Given the description of an element on the screen output the (x, y) to click on. 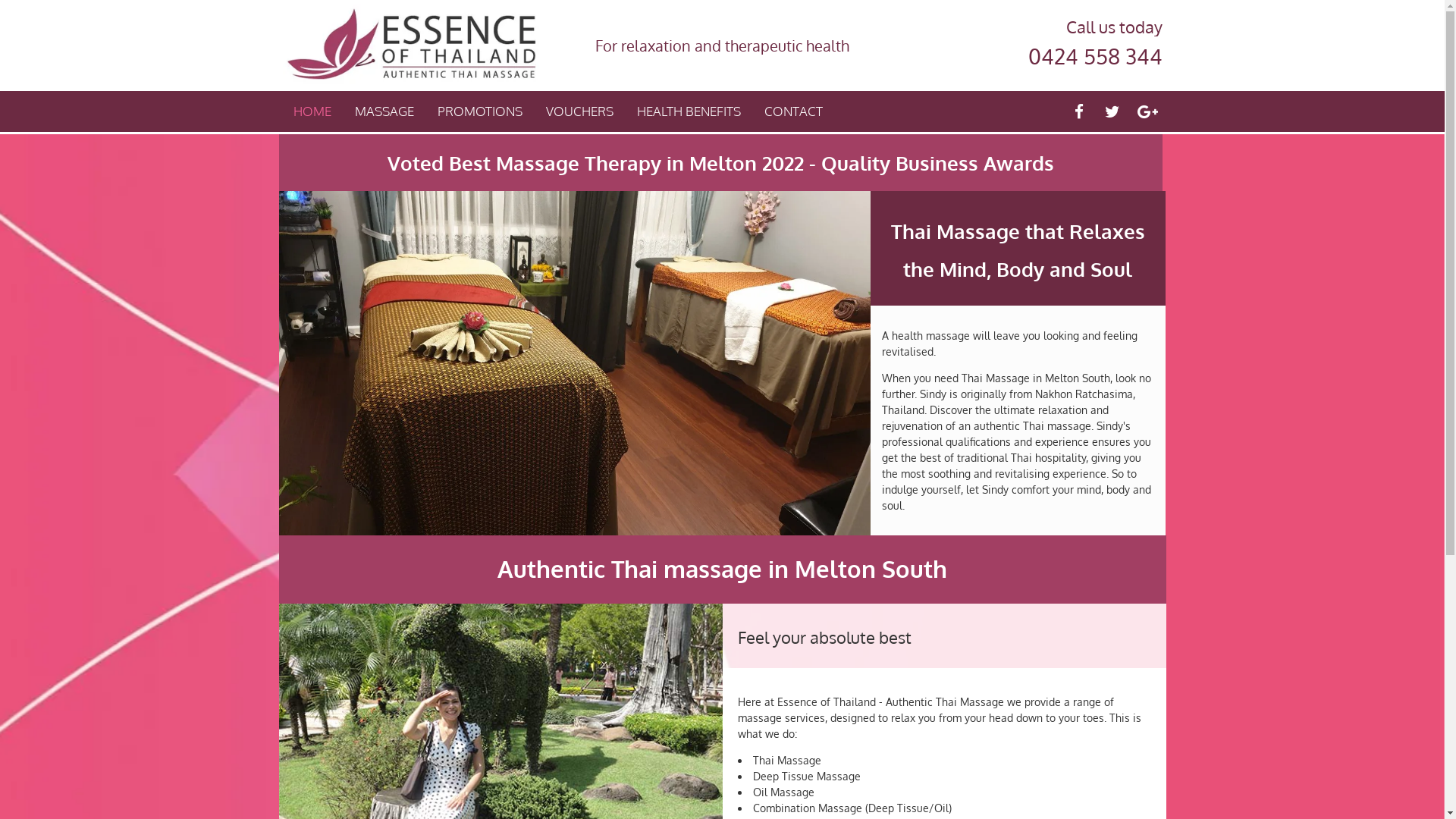
HEALTH BENEFITS Element type: text (688, 110)
HOME Element type: text (311, 110)
essence of thailand authentic thai massage logo Element type: hover (410, 45)
VOUCHERS Element type: text (579, 110)
0424 558 344 Element type: text (1095, 55)
CONTACT Element type: text (793, 110)
MASSAGE Element type: text (384, 110)
PROMOTIONS Element type: text (478, 110)
